Given the description of an element on the screen output the (x, y) to click on. 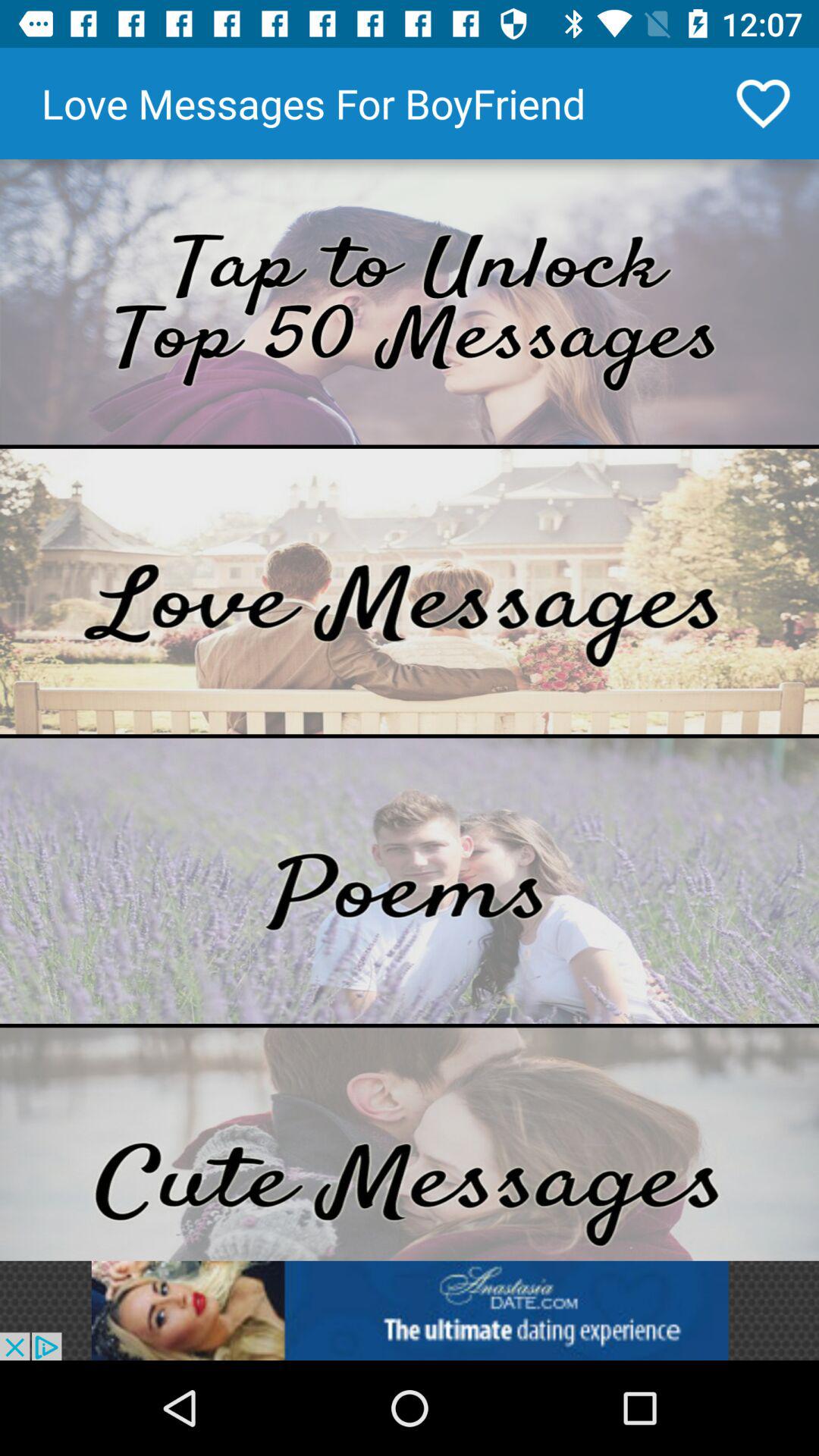
unlock more messages (409, 301)
